Given the description of an element on the screen output the (x, y) to click on. 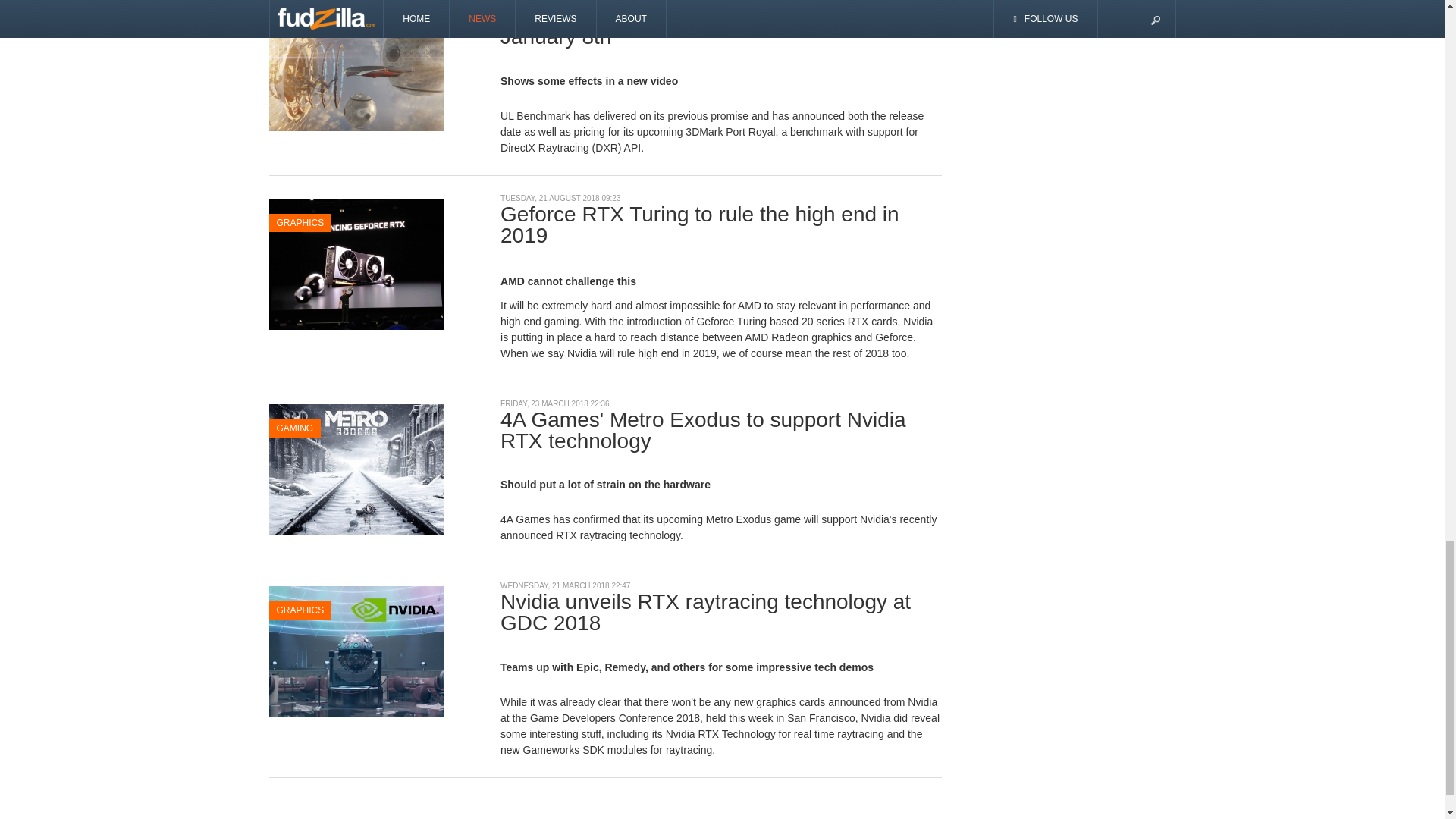
Geforce RTX Turing to rule the high end in 2019 (354, 263)
Raytracing 3DMark Port Royal launches on January 8th (354, 64)
Nvidia unveils RTX raytracing technology at GDC 2018 (354, 650)
